Given the description of an element on the screen output the (x, y) to click on. 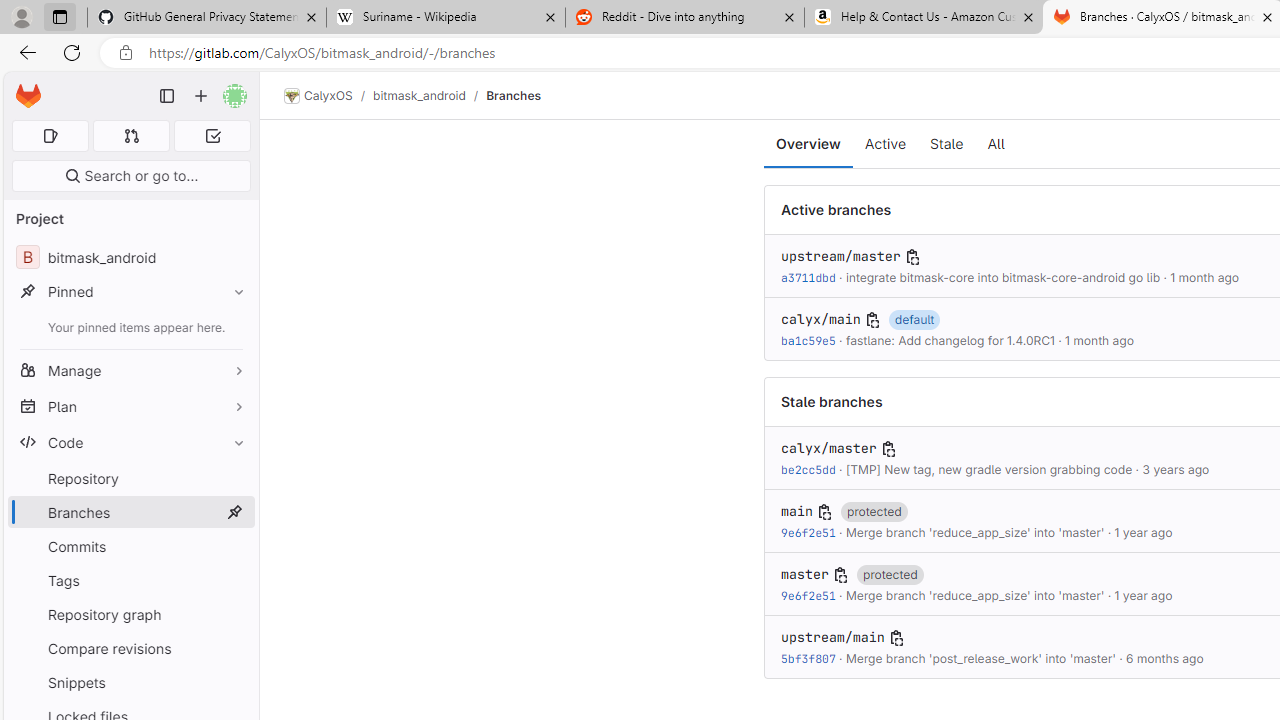
View site information (125, 53)
Assigned issues 0 (50, 136)
To-Do list 0 (212, 136)
Pin Tags (234, 580)
GitHub General Privacy Statement - GitHub Docs (207, 17)
Help & Contact Us - Amazon Customer Service (924, 17)
Copy branch name (896, 637)
ba1c59e5 (807, 339)
Reddit - Dive into anything (684, 17)
Stale (946, 143)
Manage (130, 370)
be2cc5dd (807, 469)
Compare revisions (130, 648)
